Given the description of an element on the screen output the (x, y) to click on. 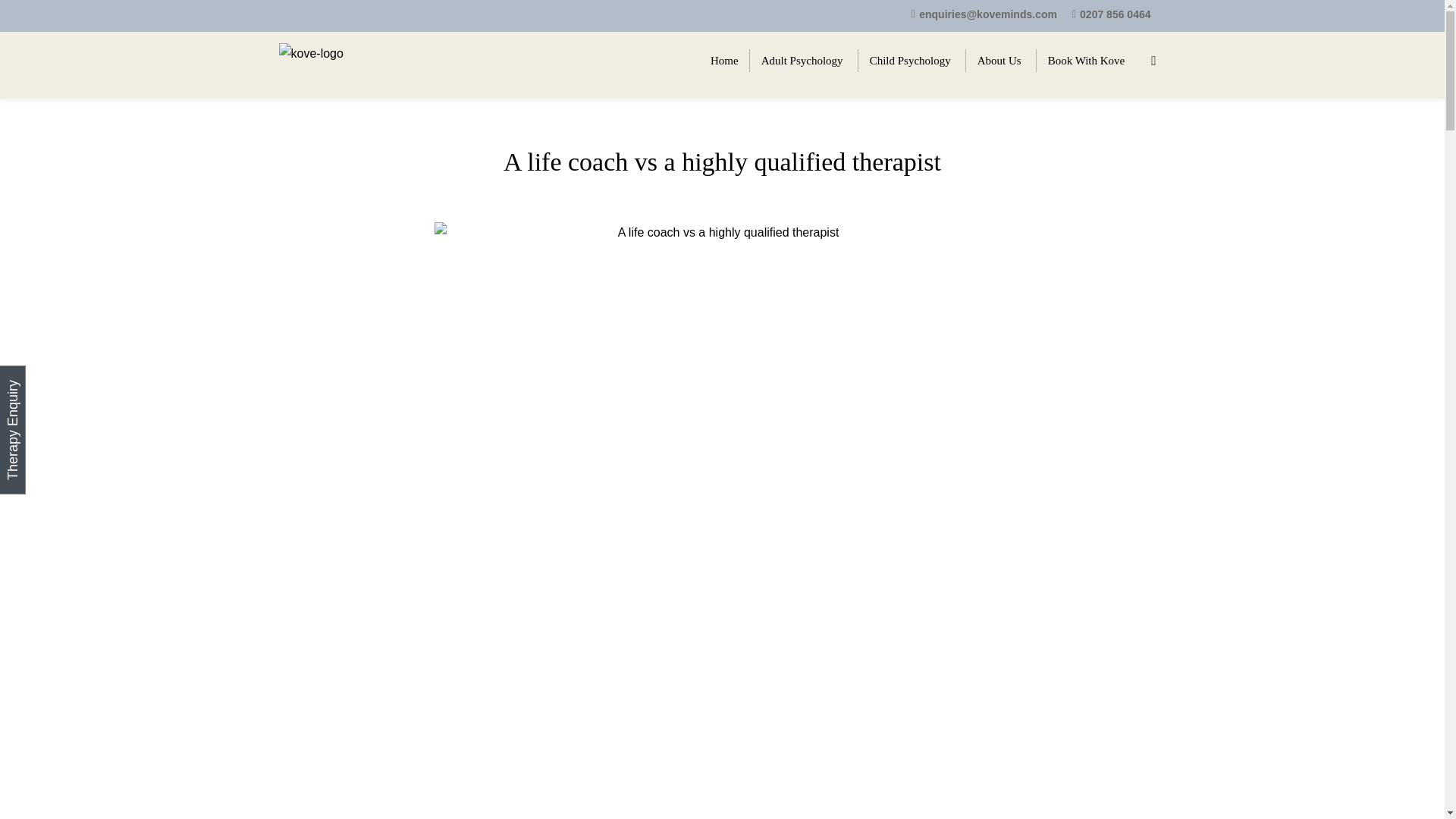
0207 856 0464 (1115, 14)
Child Psychology (912, 59)
Home (724, 59)
Adult Psychology (804, 59)
